Given the description of an element on the screen output the (x, y) to click on. 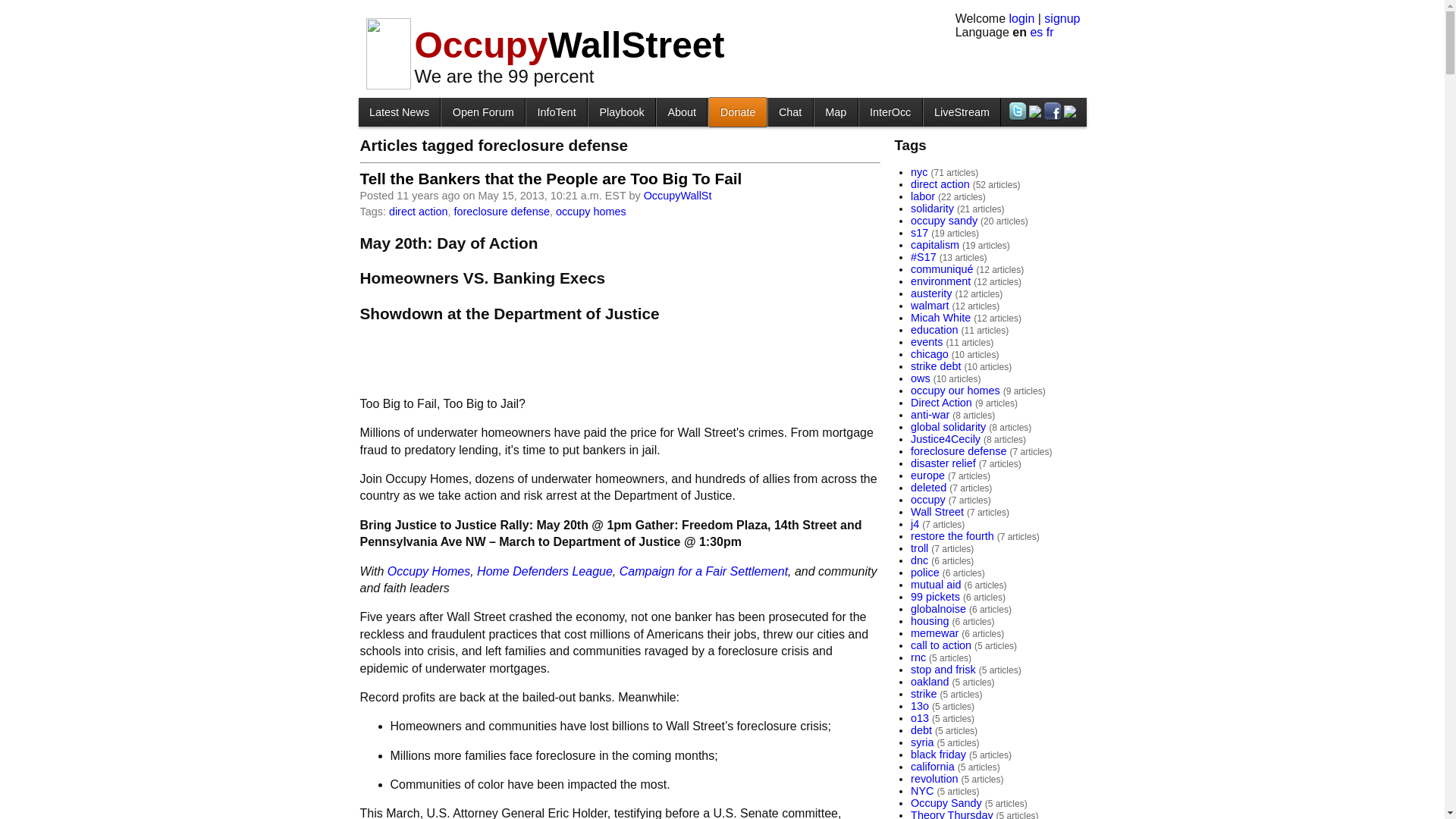
The End of Protest (621, 111)
Playbook (621, 111)
Home Defenders League (544, 571)
About (681, 111)
foreclosure defense (500, 211)
About Us (681, 111)
occupy homes (591, 211)
OccupyWallStreet (568, 45)
InfoTent (555, 111)
Online Guide to the Occupy movement (555, 111)
